Given the description of an element on the screen output the (x, y) to click on. 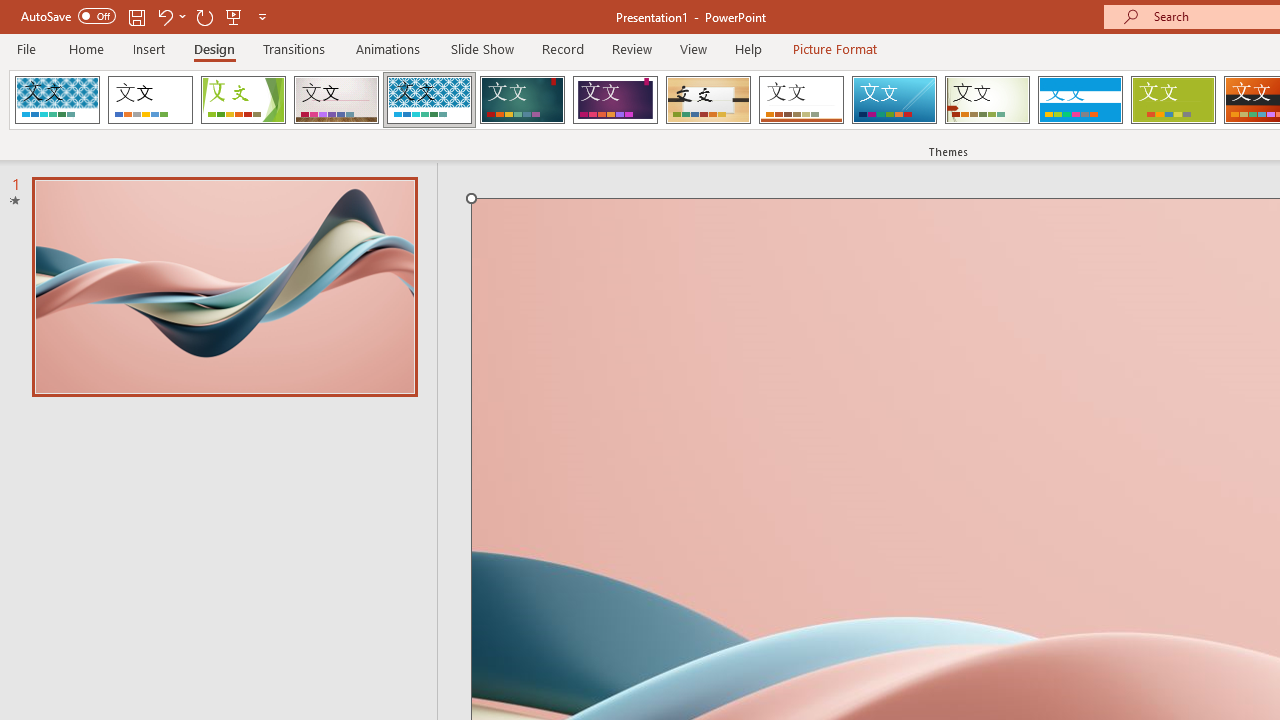
Office Theme (150, 100)
Slice (893, 100)
Integral (429, 100)
Picture Format (834, 48)
Organic (708, 100)
AfterglowVTI (57, 100)
